Given the description of an element on the screen output the (x, y) to click on. 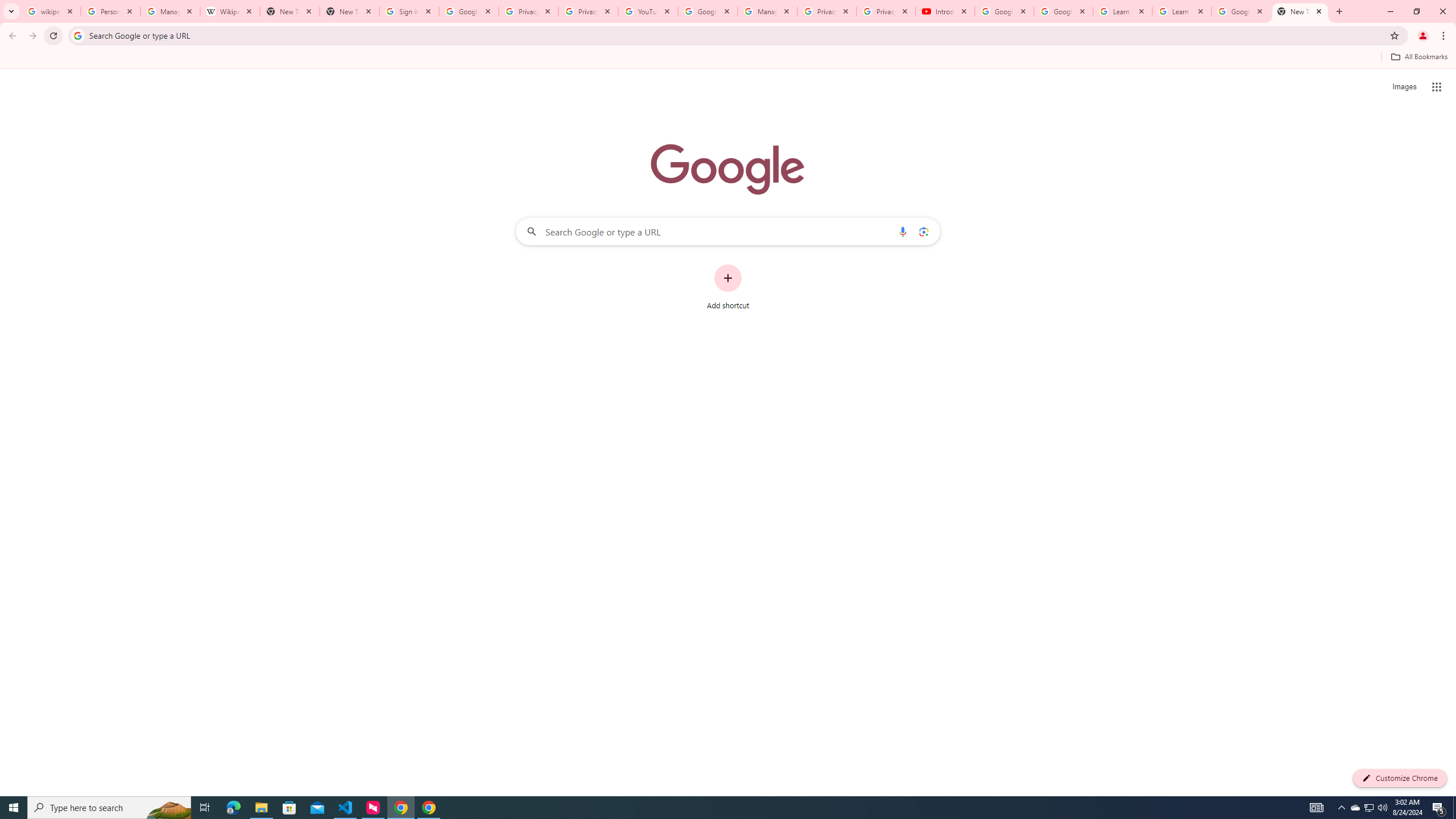
Google Account Help (1004, 11)
Google Account (1241, 11)
Google Account Help (707, 11)
All Bookmarks (1418, 56)
Search icon (77, 35)
Search for Images  (1403, 87)
Wikipedia:Edit requests - Wikipedia (229, 11)
Search by voice (902, 230)
